Given the description of an element on the screen output the (x, y) to click on. 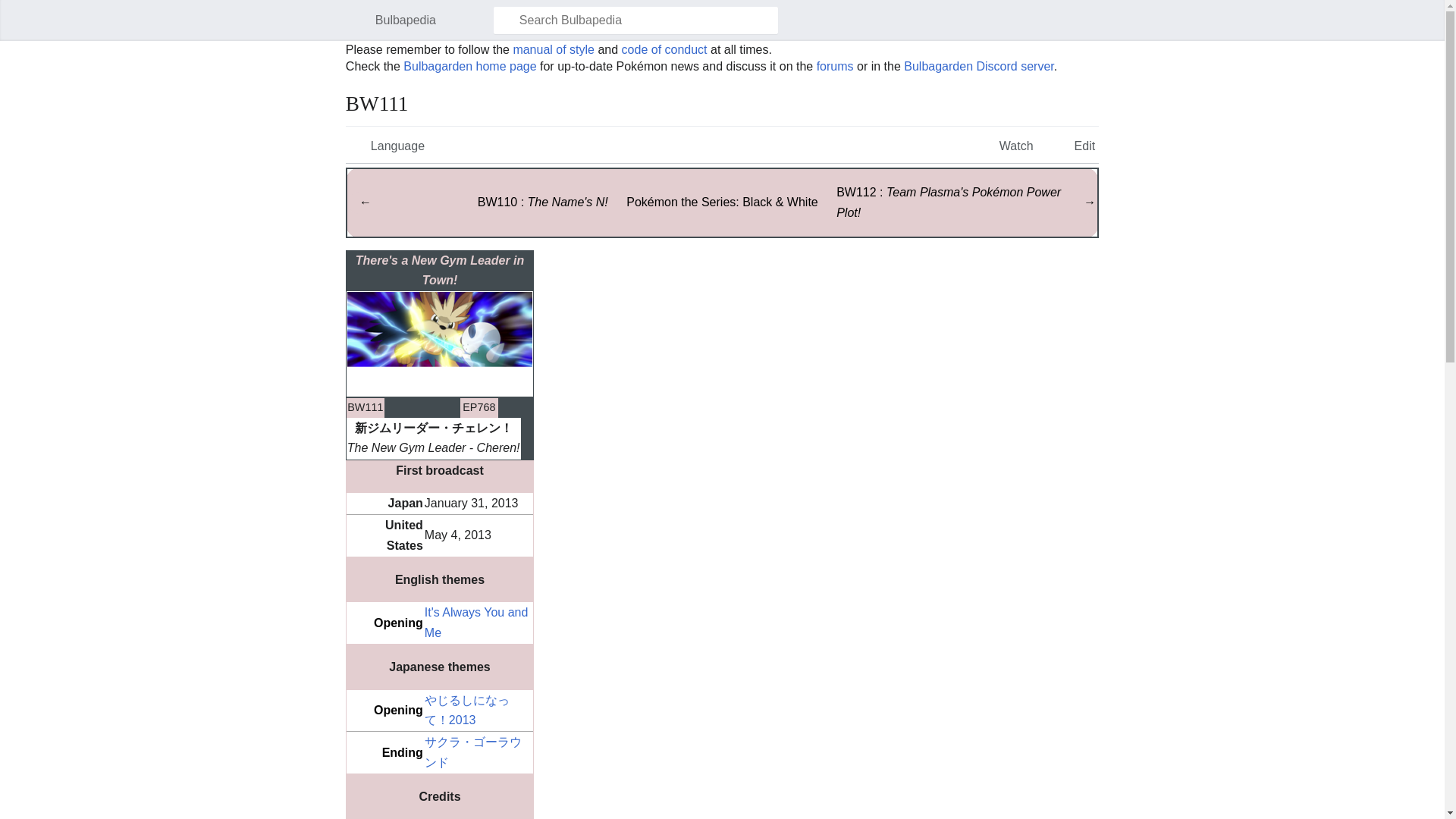
Language (386, 144)
List of Japanese ending themes (402, 752)
Edit (1074, 144)
code of conduct (664, 49)
Bulbagarden home page (469, 65)
Bulbapedia:Code of conduct (664, 49)
Open main menu (353, 20)
List of Japanese opening themes (398, 709)
manual of style (553, 49)
Watch (1005, 144)
